Given the description of an element on the screen output the (x, y) to click on. 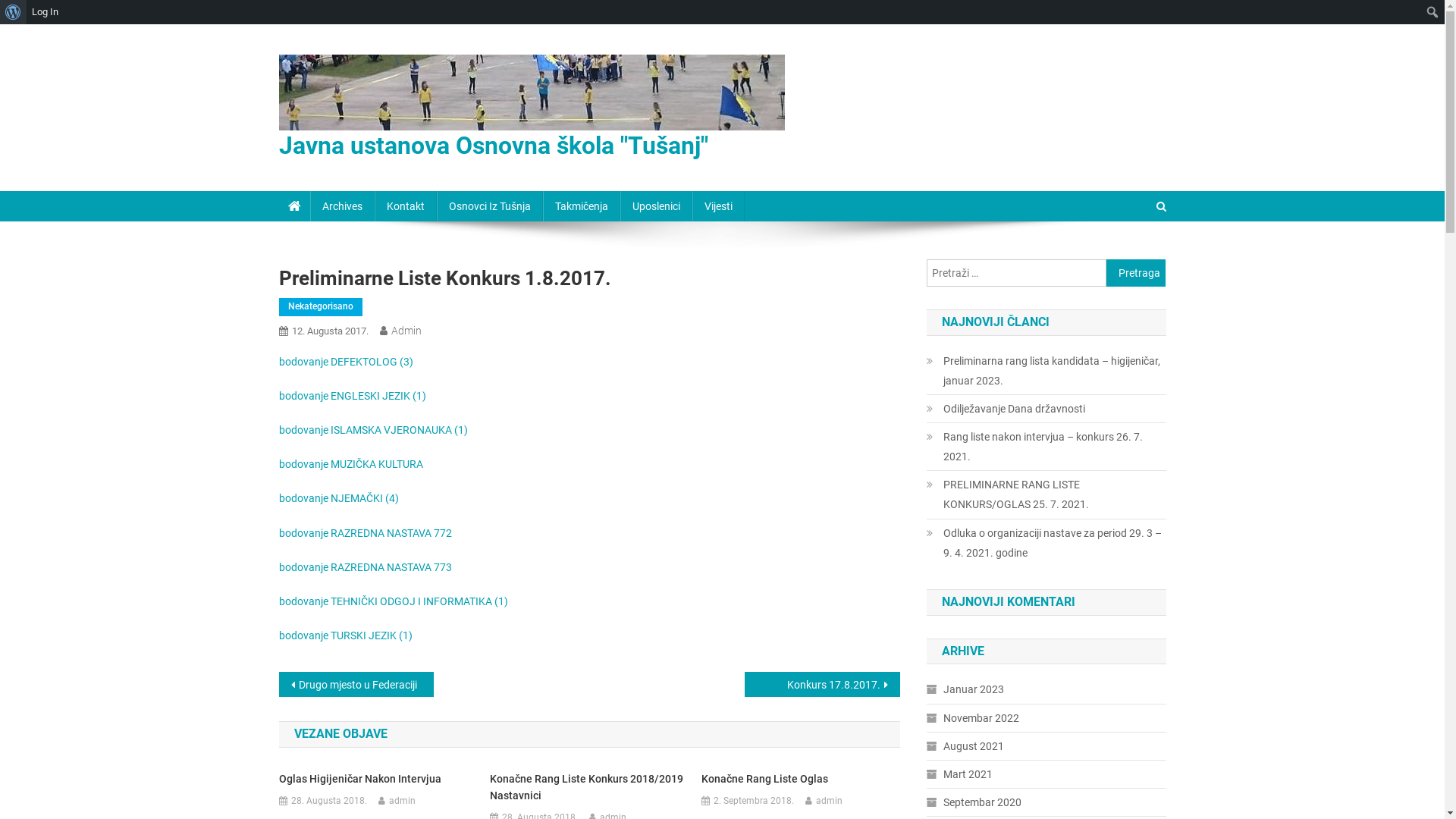
Pretraga Element type: text (1133, 256)
bodovanje ISLAMSKA VJERONAUKA (1) Element type: text (373, 429)
Log In Element type: text (45, 12)
Pretraga Element type: text (18, 12)
admin Element type: text (402, 801)
bodovanje RAZREDNA NASTAVA 772 Element type: text (365, 532)
admin Element type: text (828, 801)
August 2021 Element type: text (965, 746)
Nekategorisano Element type: text (320, 307)
Novembar 2022 Element type: text (972, 718)
2. Septembra 2018. Element type: text (753, 801)
bodovanje RAZREDNA NASTAVA 773 Element type: text (365, 567)
Mart 2021 Element type: text (959, 774)
Septembar 2020 Element type: text (973, 802)
bodovanje DEFEKTOLOG (3) Element type: text (346, 361)
PRELIMINARNE RANG LISTE KONKURS/OGLAS 25. 7. 2021. Element type: text (1046, 494)
Konkurs 17.8.2017. Element type: text (822, 683)
Pretraga Element type: text (1136, 272)
Drugo mjesto u Federaciji Element type: text (356, 683)
Admin Element type: text (406, 330)
bodovanje ENGLESKI JEZIK (1) Element type: text (352, 395)
bodovanje TURSKI JEZIK (1) Element type: text (345, 635)
Januar 2023 Element type: text (965, 689)
12. Augusta 2017. Element type: text (329, 330)
Archives Element type: text (341, 206)
Uposlenici Element type: text (656, 206)
28. Augusta 2018. Element type: text (329, 801)
Vijesti Element type: text (717, 206)
Kontakt Element type: text (405, 206)
